Given the description of an element on the screen output the (x, y) to click on. 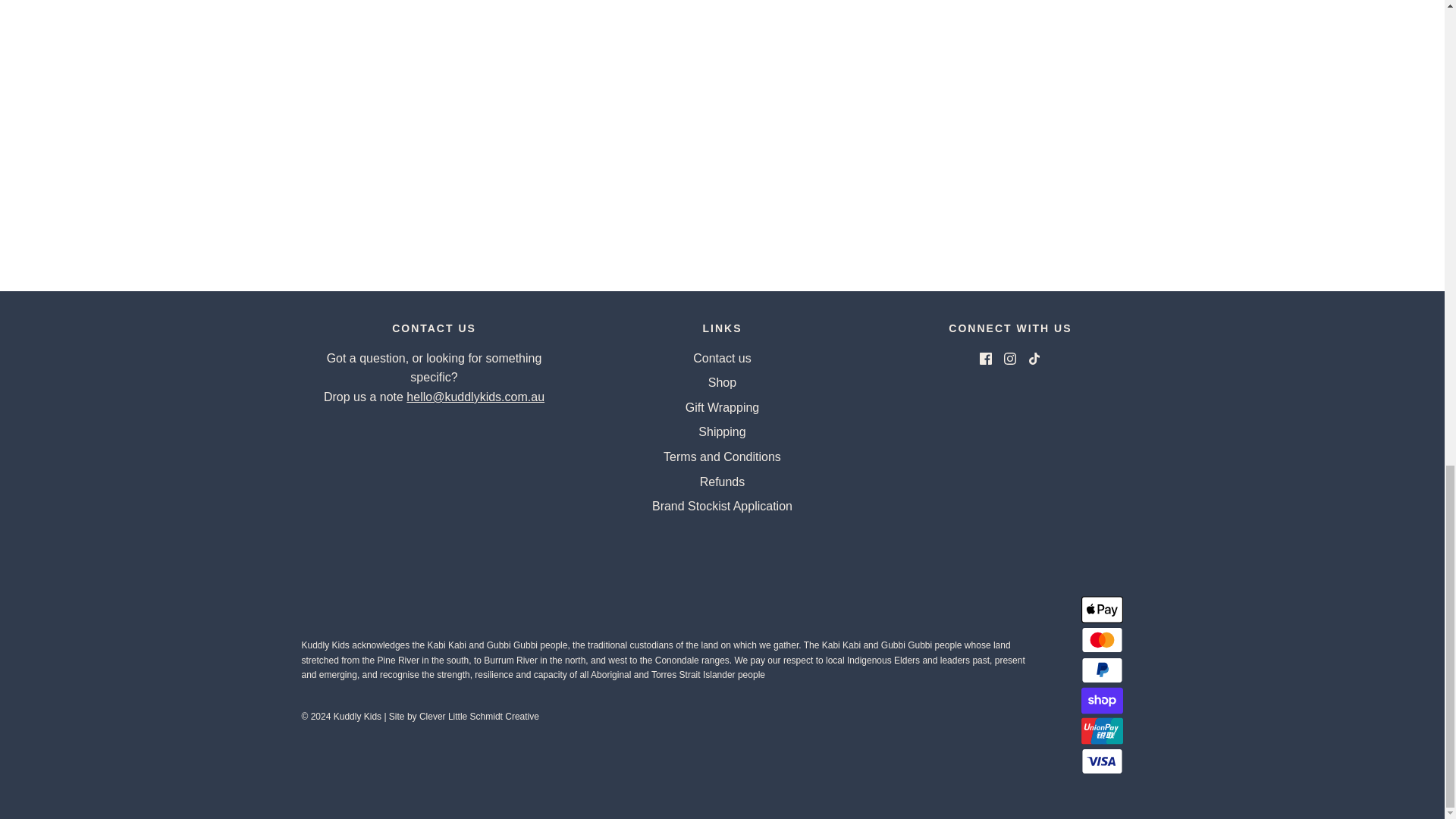
Instagram icon (1010, 358)
Mastercard (1101, 639)
TikTok icon (1034, 358)
Facebook icon (985, 358)
Apple Pay (1101, 609)
Visa (1101, 761)
Shop Pay (1101, 700)
PayPal (1101, 670)
Union Pay (1101, 730)
